Given the description of an element on the screen output the (x, y) to click on. 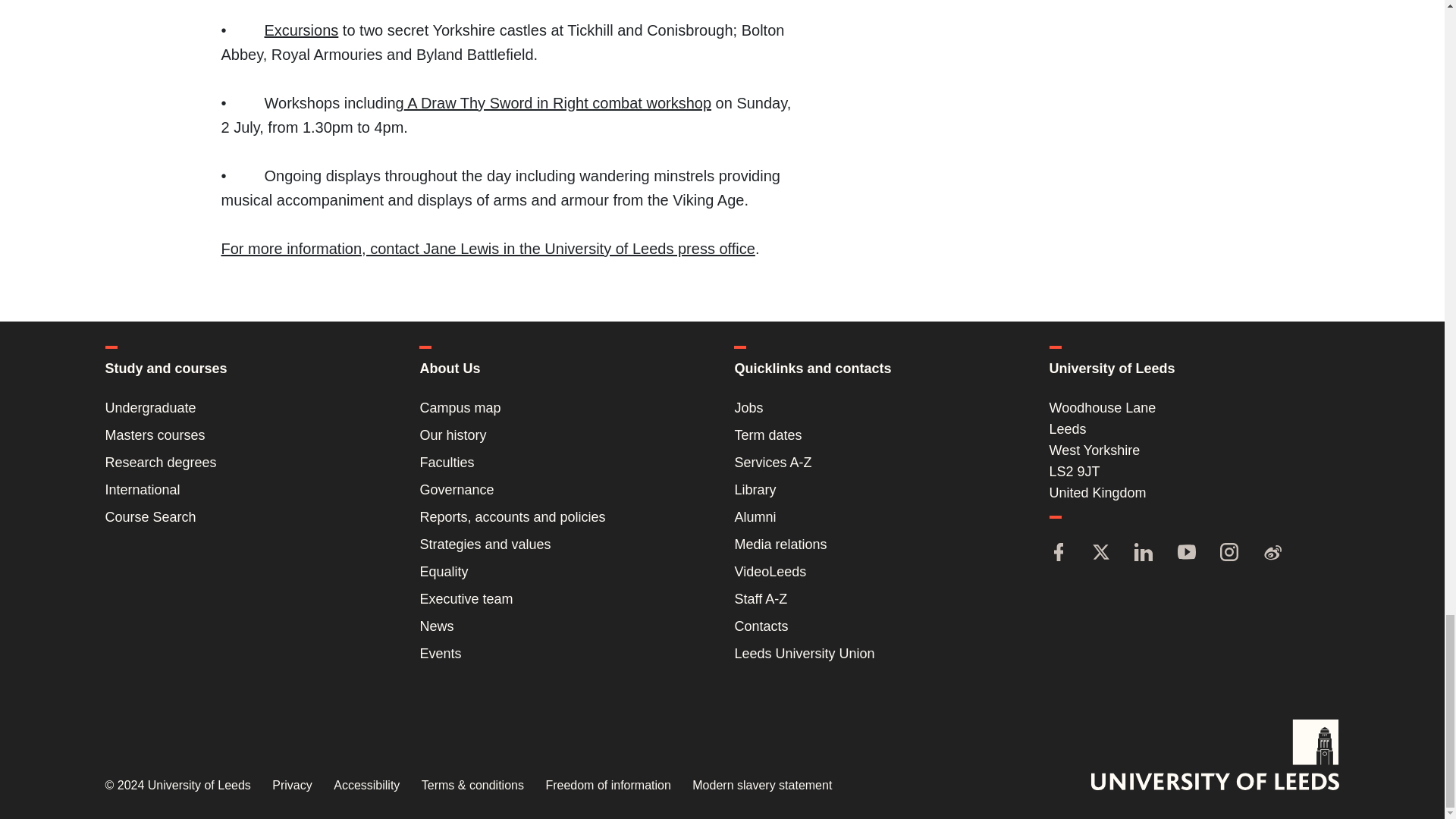
Go to Privacy page (291, 784)
Go to Freedom of information page (606, 784)
Go to Accessibility page (365, 784)
Go to Modern slavery statement page (762, 784)
